Given the description of an element on the screen output the (x, y) to click on. 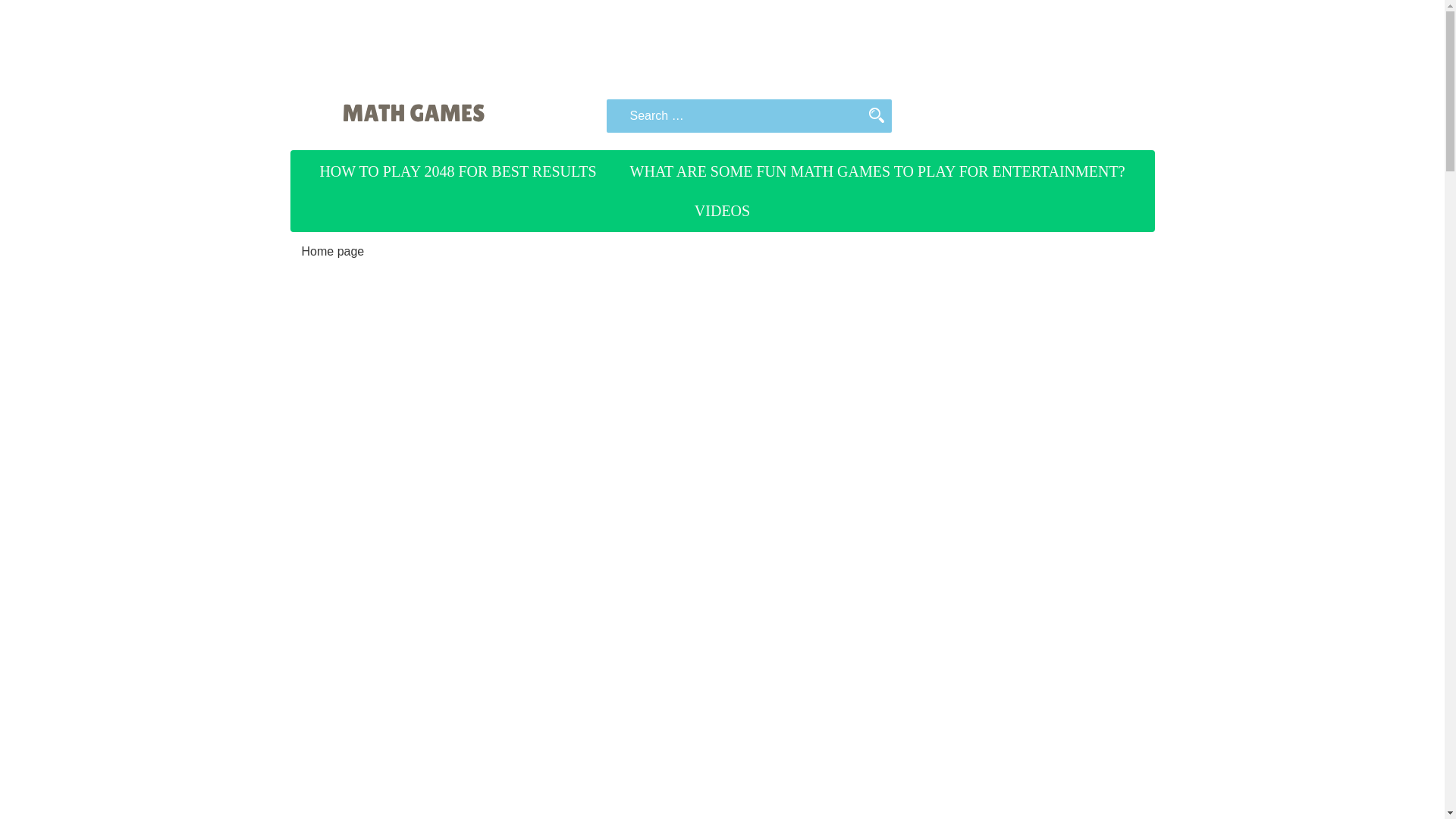
Home page (333, 250)
HOW TO PLAY 2048 FOR BEST RESULTS (457, 170)
VIDEOS (721, 210)
WHAT ARE SOME FUN MATH GAMES TO PLAY FOR ENTERTAINMENT? (877, 170)
